Given the description of an element on the screen output the (x, y) to click on. 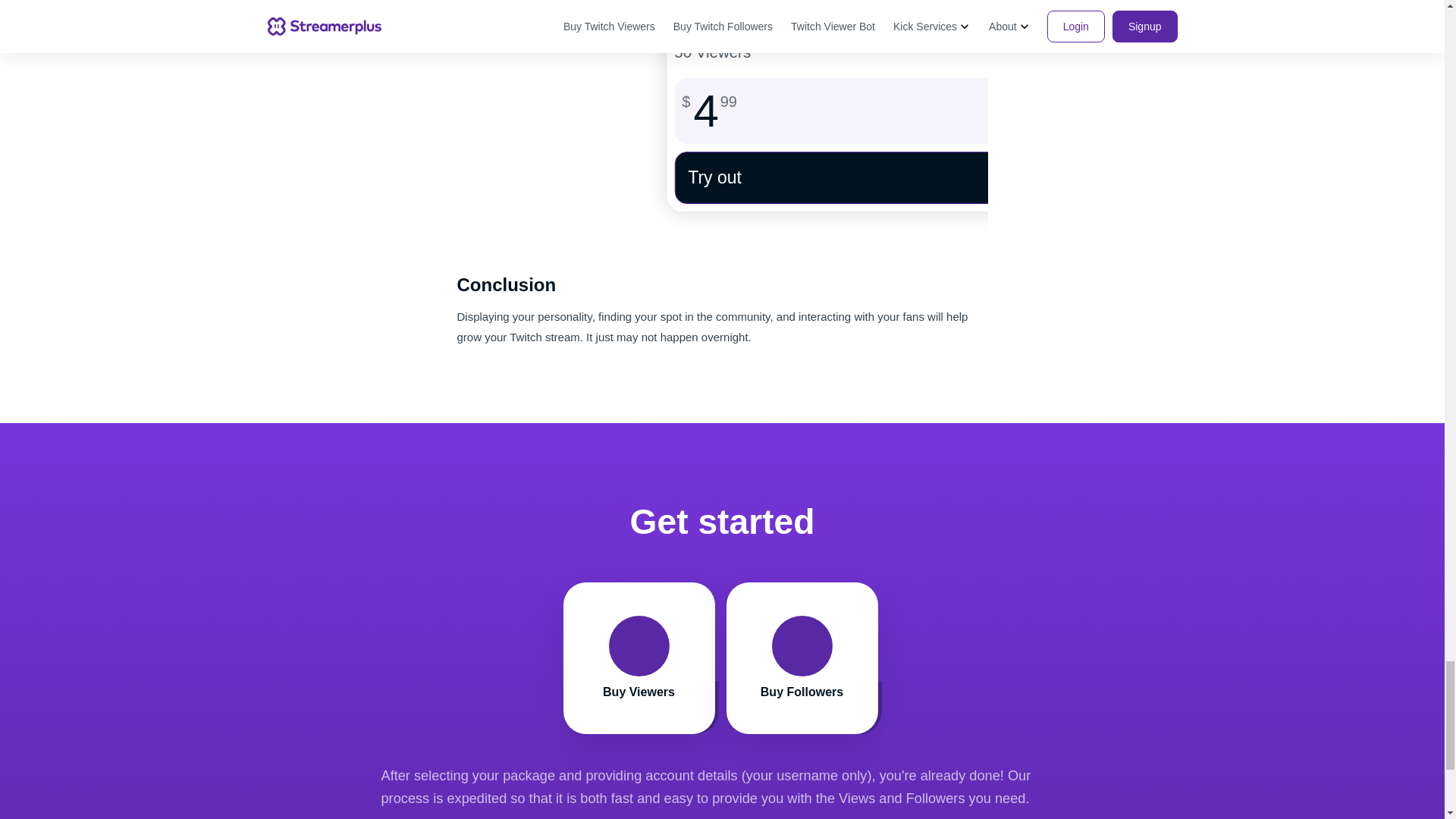
Try out (804, 657)
